Given the description of an element on the screen output the (x, y) to click on. 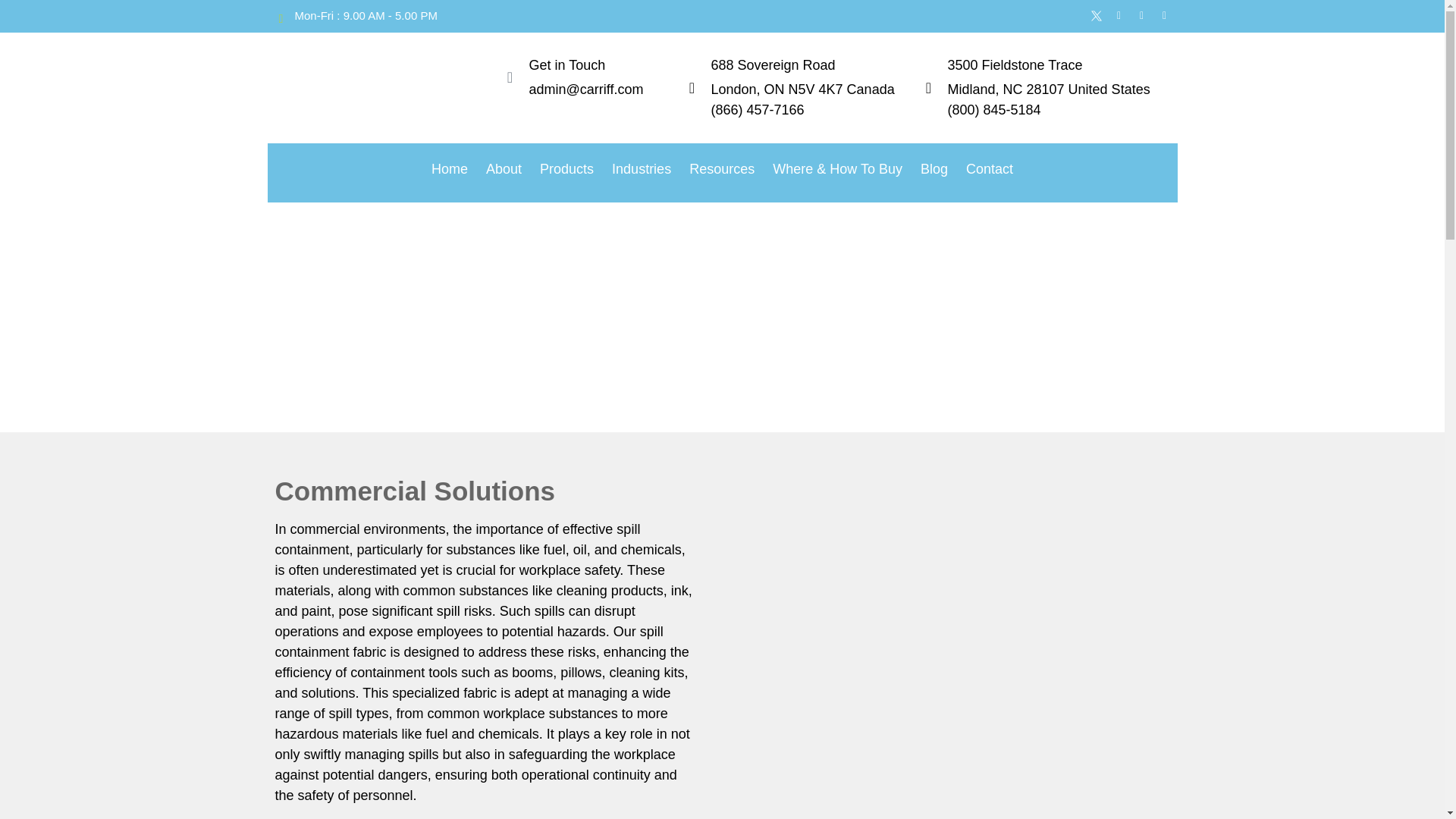
Get in Touch (567, 64)
3500 Fieldstone Trace (1015, 64)
688 Sovereign Road (773, 64)
About (504, 169)
Home (449, 169)
Products (566, 169)
